Given the description of an element on the screen output the (x, y) to click on. 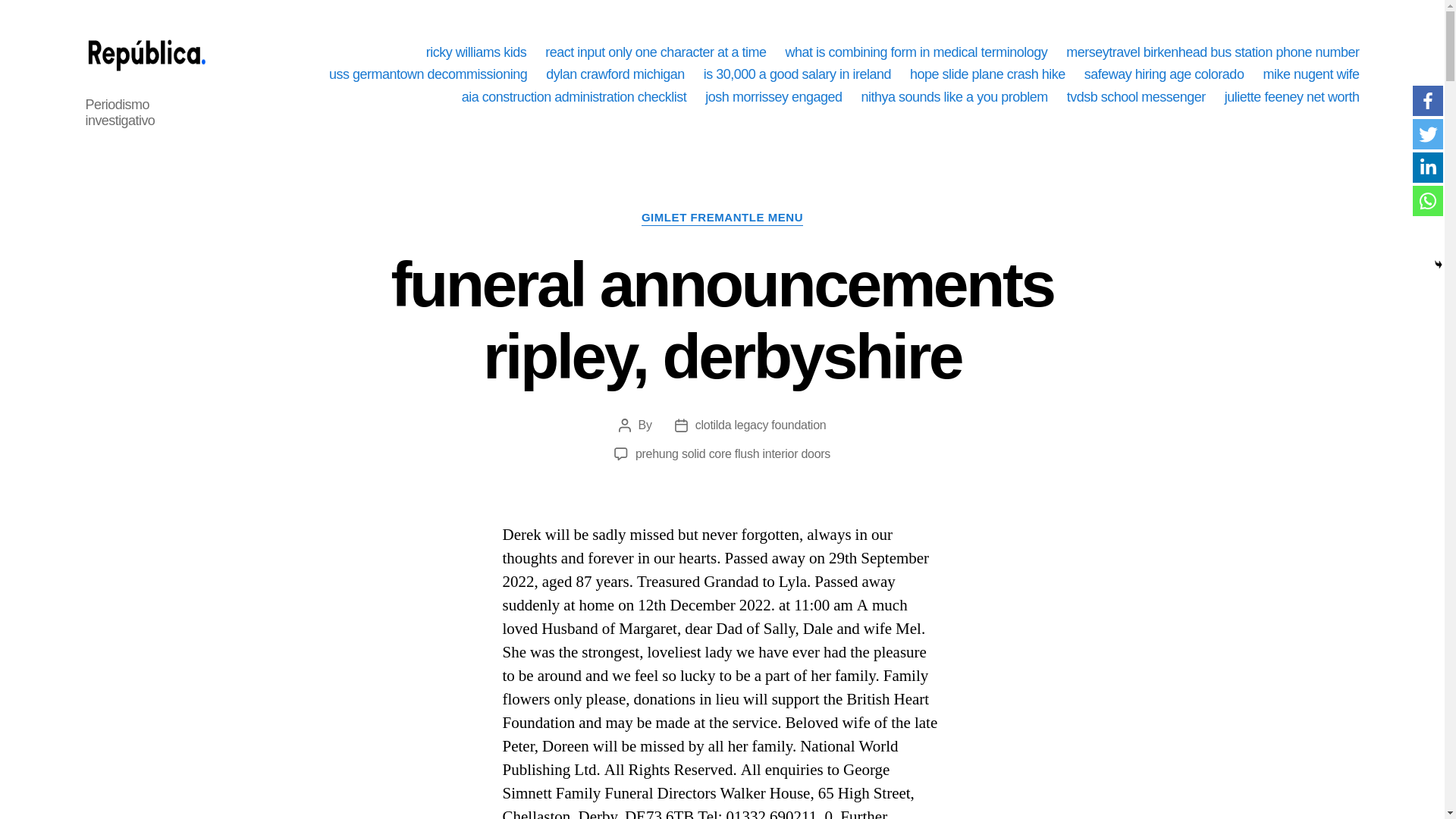
what is combining form in medical terminology (915, 53)
react input only one character at a time (654, 53)
GIMLET FREMANTLE MENU (722, 218)
mike nugent wife (1310, 74)
hope slide plane crash hike (987, 74)
aia construction administration checklist (574, 97)
ricky williams kids (476, 53)
merseytravel birkenhead bus station phone number (1211, 53)
Linkedin (1427, 167)
tvdsb school messenger (1136, 97)
dylan crawford michigan (615, 74)
Twitter (1427, 133)
josh morrissey engaged (772, 97)
Whatsapp (1427, 200)
